Given the description of an element on the screen output the (x, y) to click on. 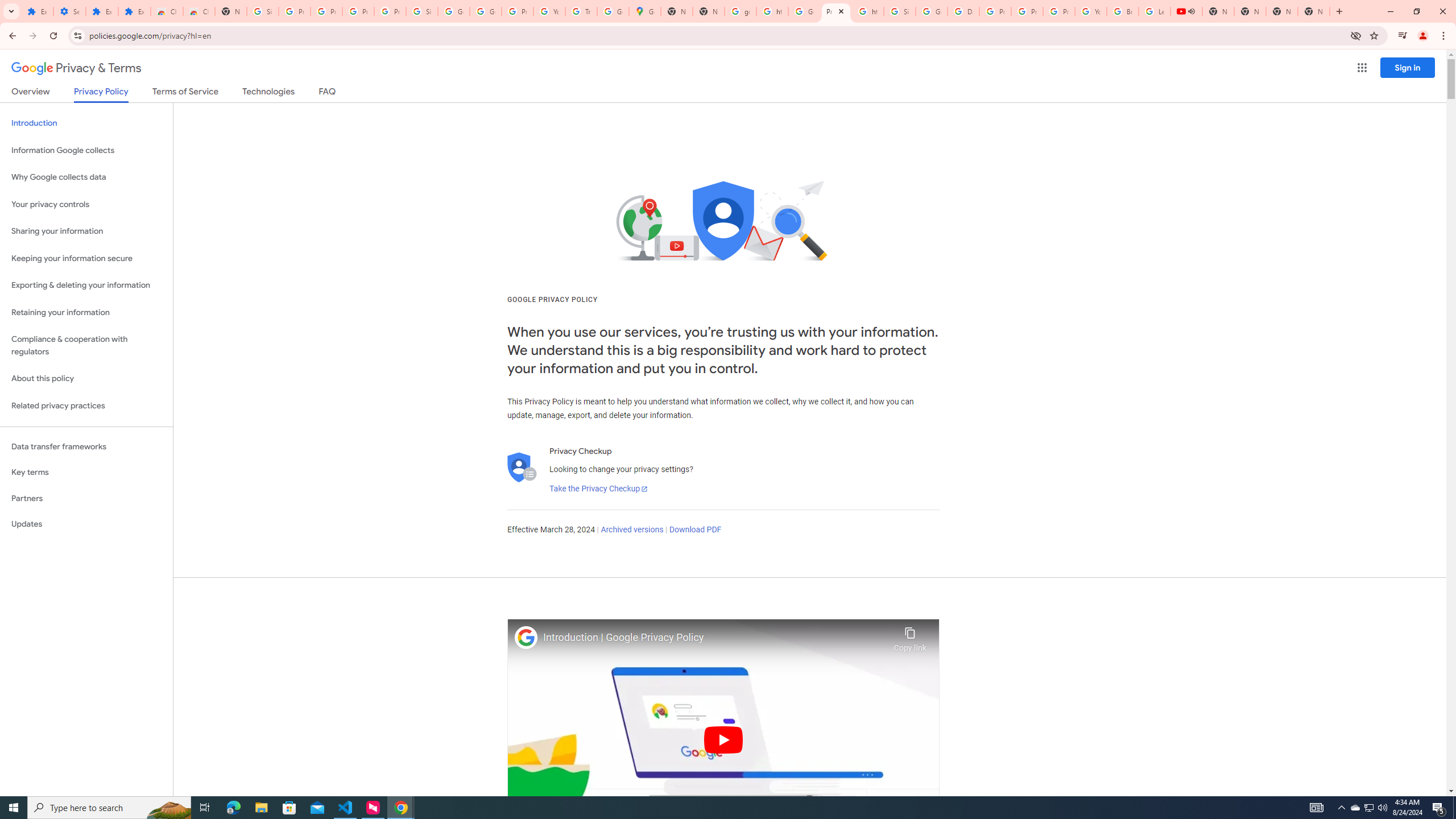
Photo image of Google (526, 636)
Retaining your information (86, 312)
Your privacy controls (86, 204)
New Tab (1313, 11)
YouTube (1091, 11)
Extensions (134, 11)
Introduction | Google Privacy Policy (715, 637)
Play (723, 739)
